Given the description of an element on the screen output the (x, y) to click on. 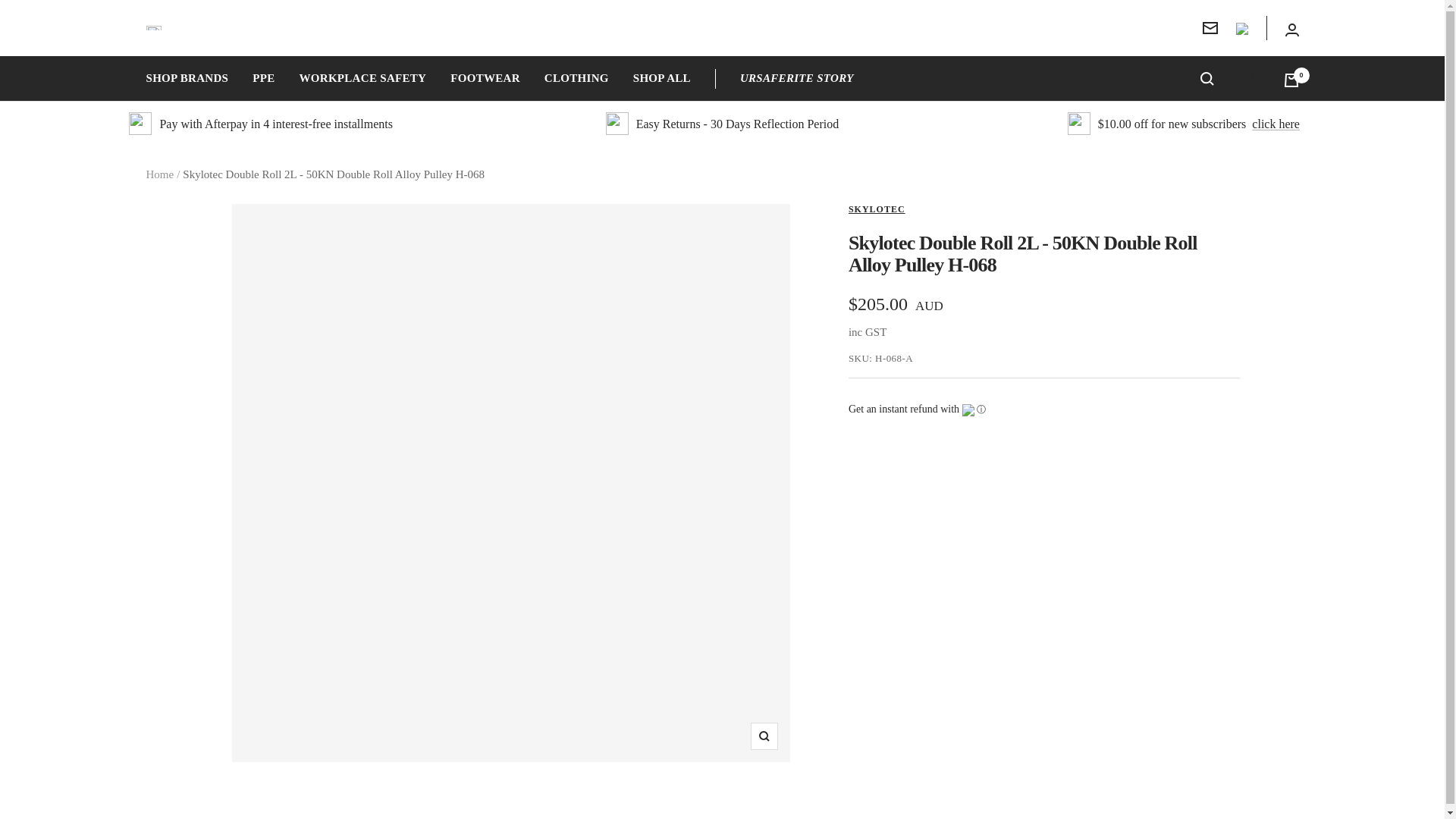
SHOP ALL (661, 78)
SHOP BRANDS (186, 78)
URSAFERITE STORY (796, 78)
URSafeRite (152, 27)
PPE (263, 78)
CLOTHING (576, 78)
0 (1290, 79)
FOOTWEAR (484, 78)
Newsletter (1209, 28)
WORKPLACE SAFETY (362, 78)
